Given the description of an element on the screen output the (x, y) to click on. 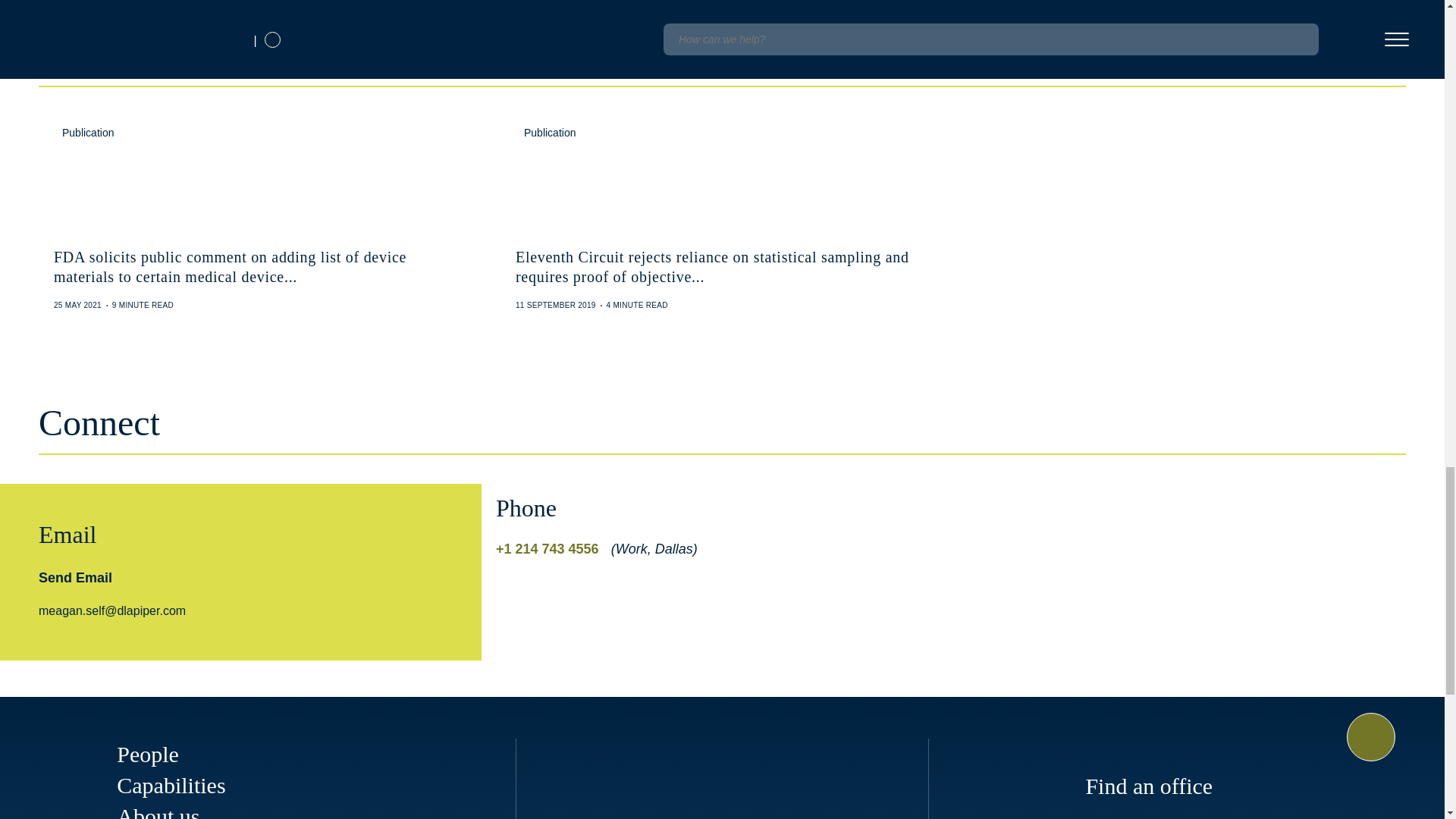
Send Email (75, 577)
